Given the description of an element on the screen output the (x, y) to click on. 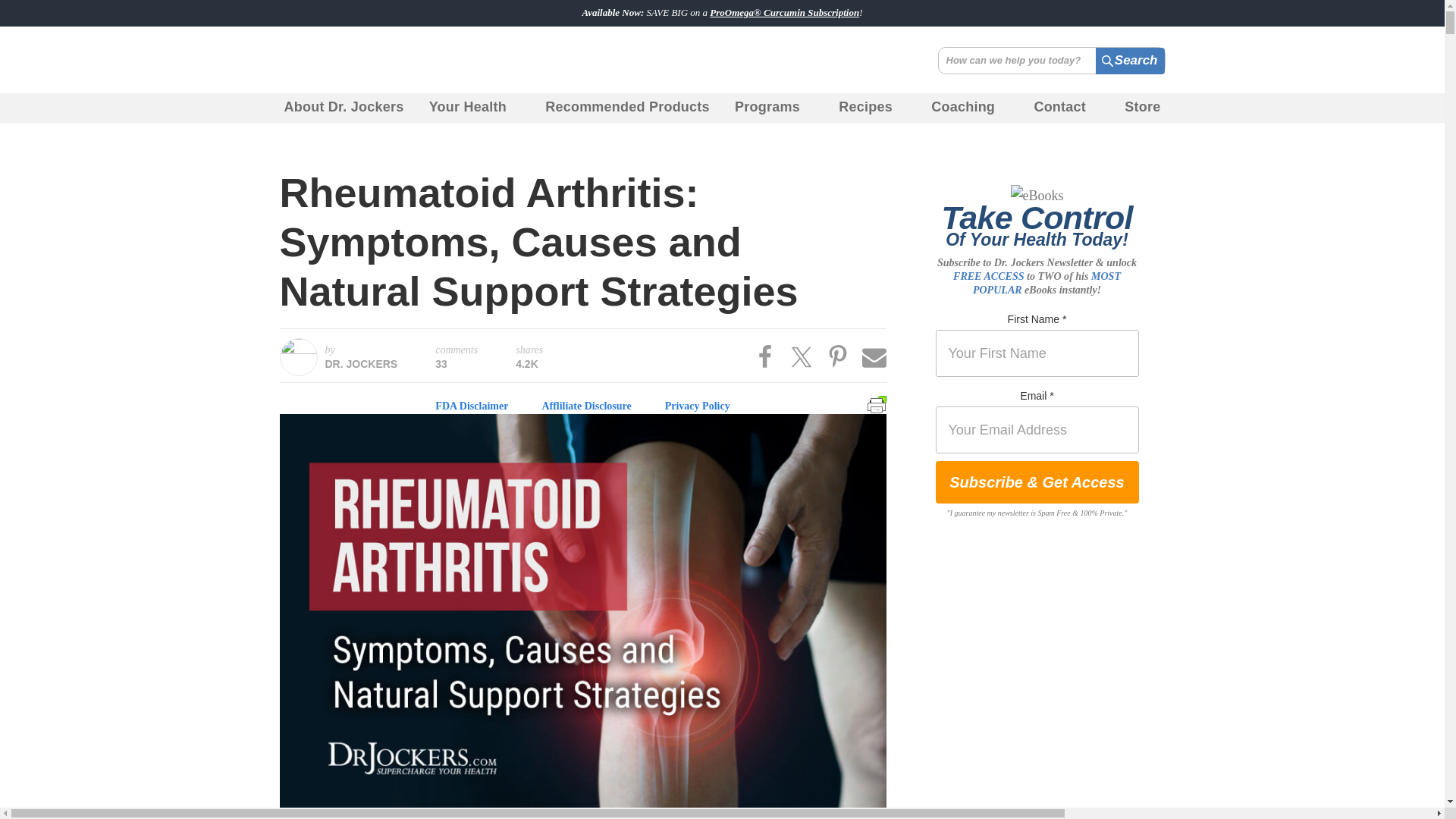
DrJockers.com (373, 60)
Share on Facebook (764, 356)
Search (1128, 60)
Recipes (872, 107)
How can we help you today? (1050, 60)
Contact (1066, 107)
Store (1141, 107)
Share on Pinterest (836, 356)
DR. JOCKERS (360, 364)
Programs (774, 107)
